Given the description of an element on the screen output the (x, y) to click on. 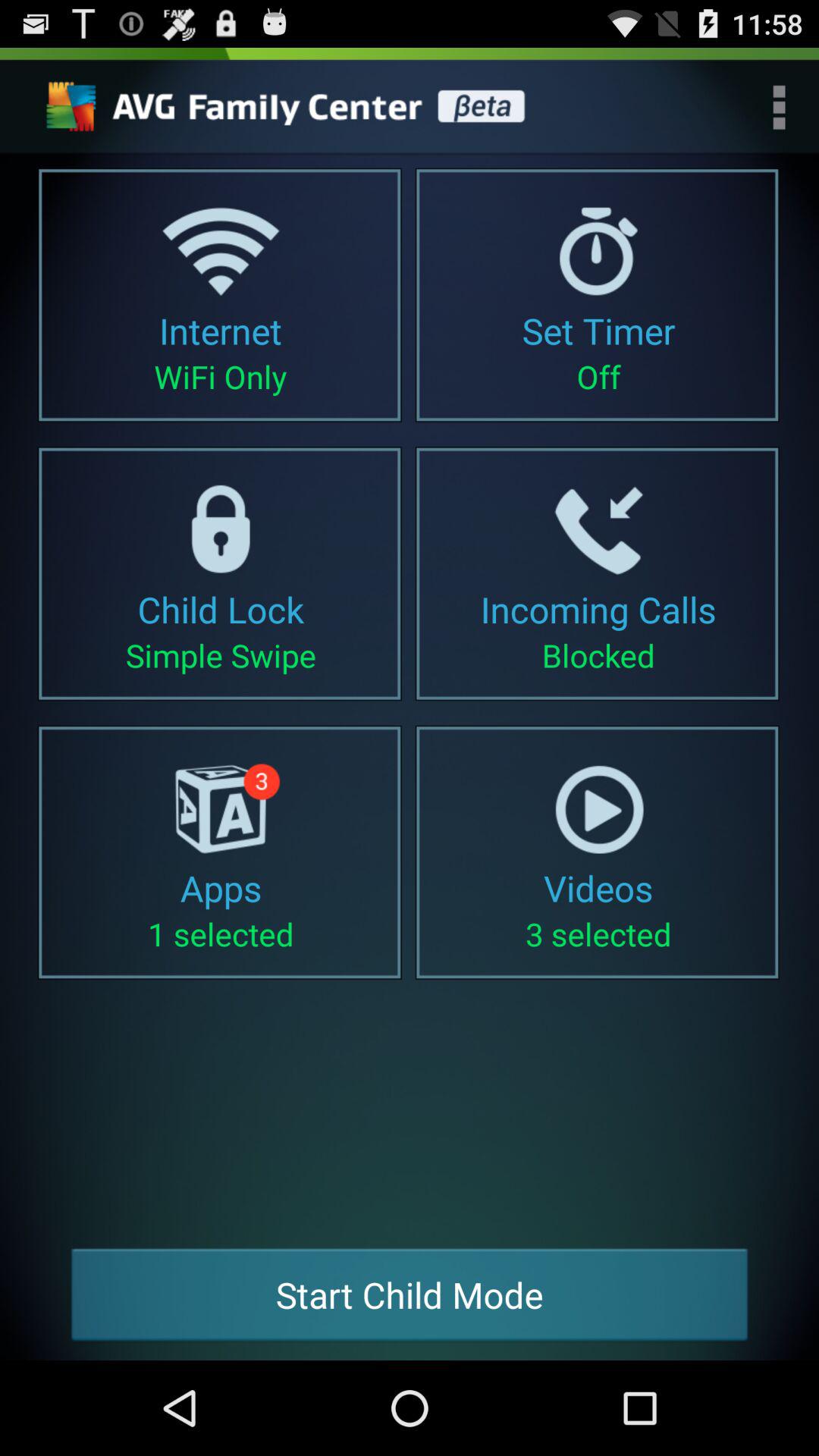
new pega (289, 107)
